Given the description of an element on the screen output the (x, y) to click on. 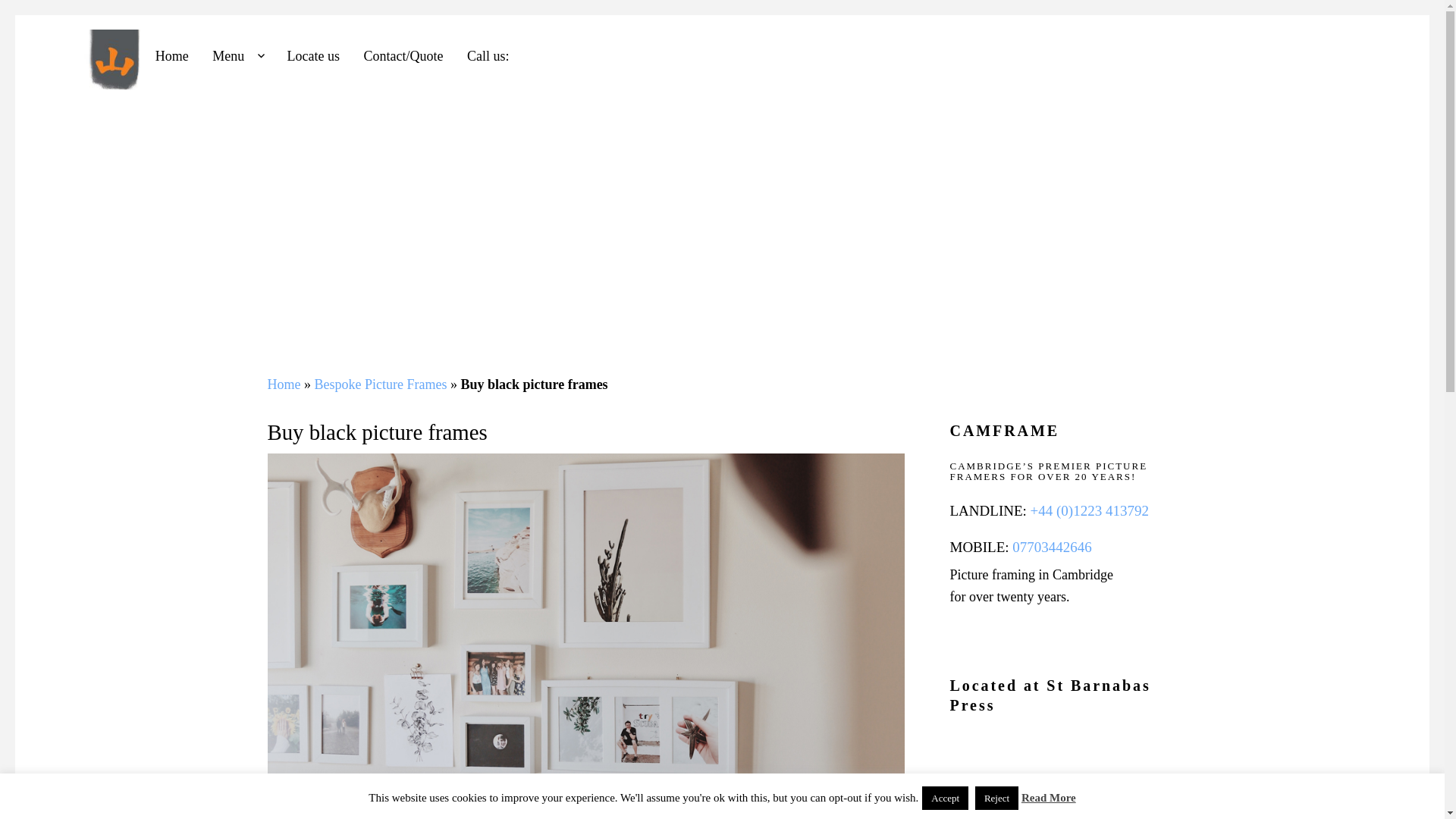
Bespoke Picture Frames (380, 384)
07703442646 (1050, 546)
Locate us (313, 57)
Menu (237, 57)
Home (282, 384)
Call us: (487, 57)
Home (171, 57)
